Given the description of an element on the screen output the (x, y) to click on. 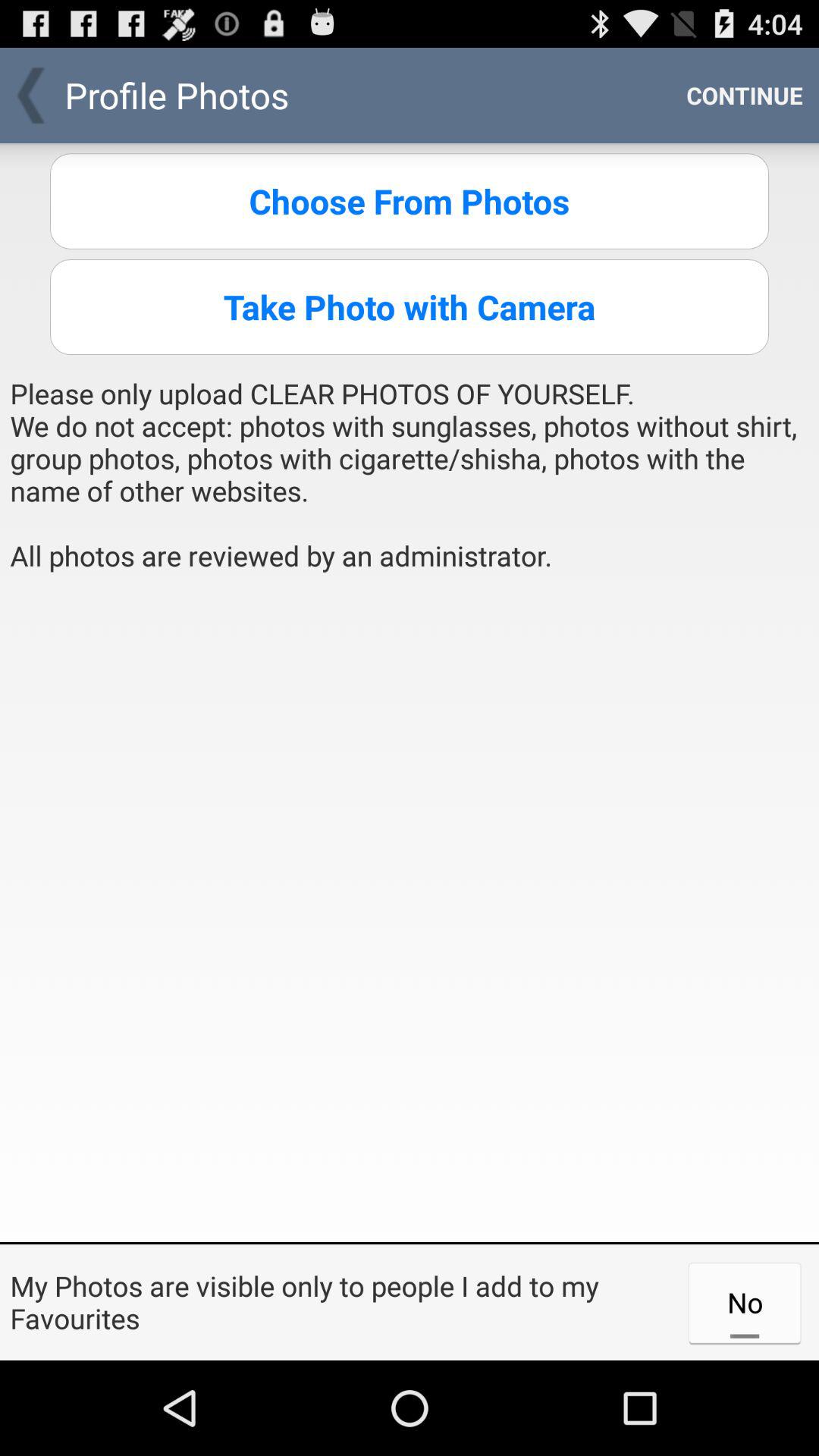
select the item next to the profile photos app (744, 95)
